Given the description of an element on the screen output the (x, y) to click on. 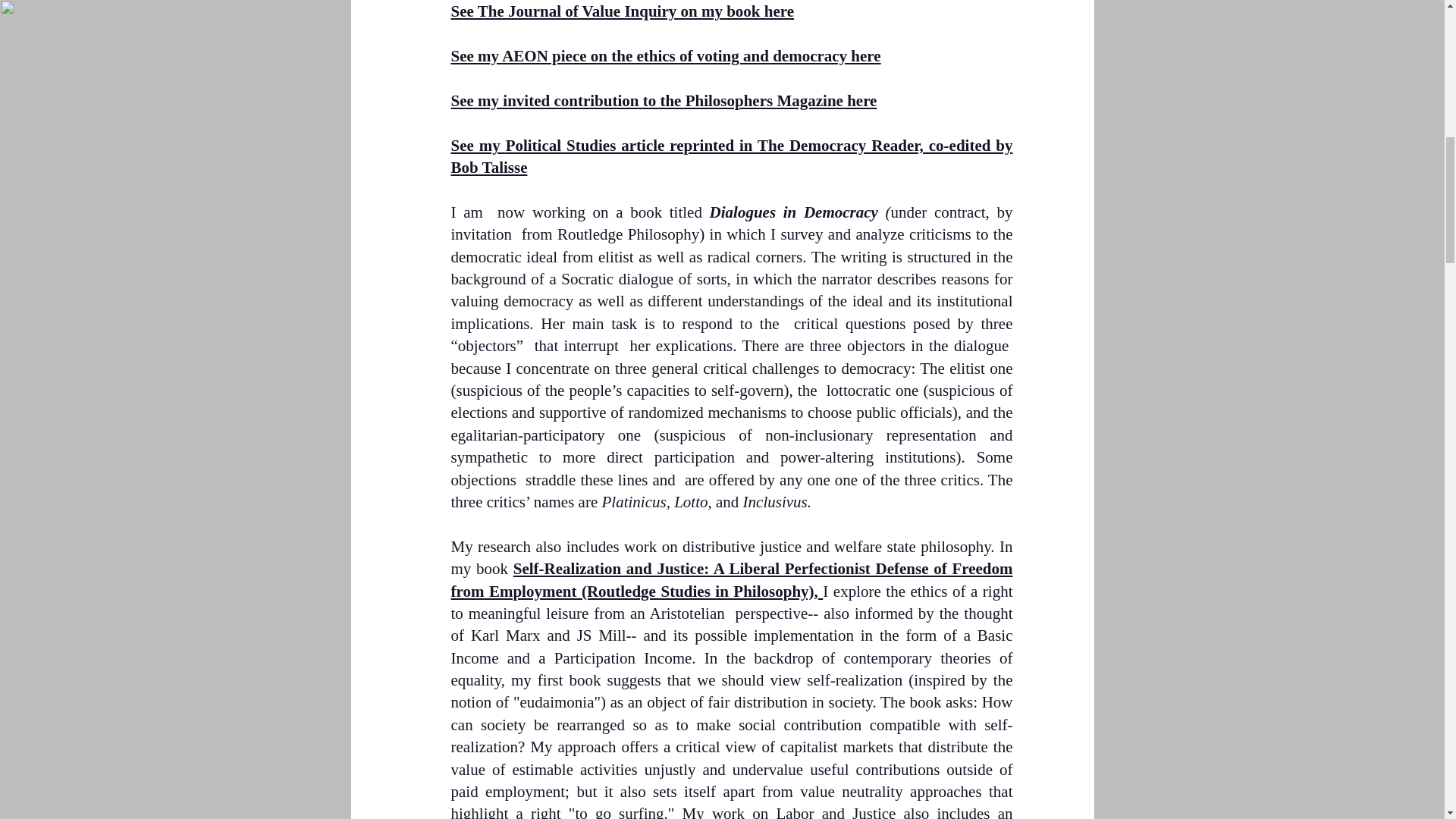
See The Journal of Value Inquiry on my book here (621, 11)
See my AEON piece on the ethics of voting and democracy here (664, 55)
